Given the description of an element on the screen output the (x, y) to click on. 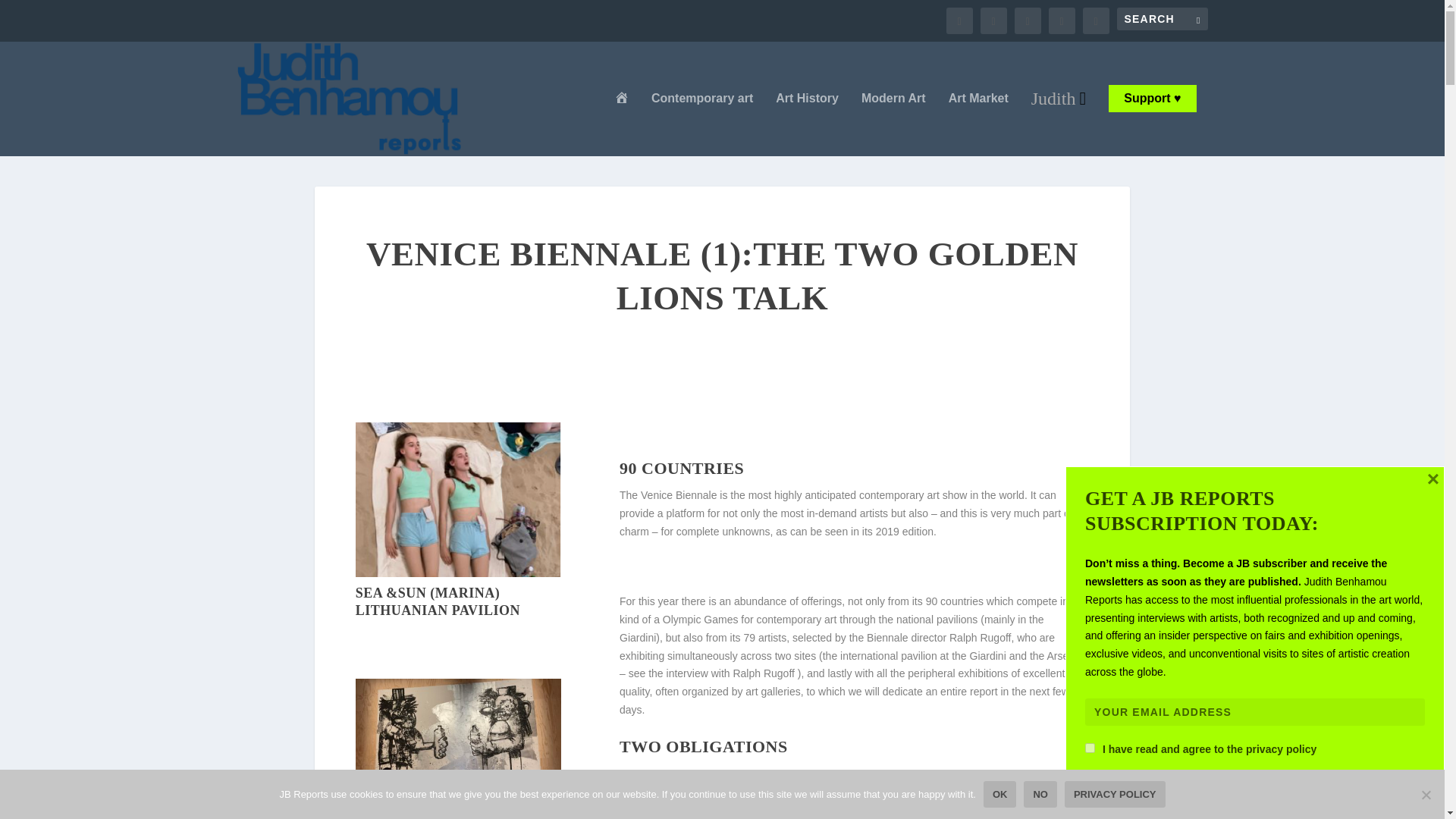
Art History (807, 124)
Sign up (1115, 785)
Search for: (1161, 18)
Contemporary art (701, 124)
Art Market (979, 124)
Modern Art (893, 124)
1 (1089, 747)
